Given the description of an element on the screen output the (x, y) to click on. 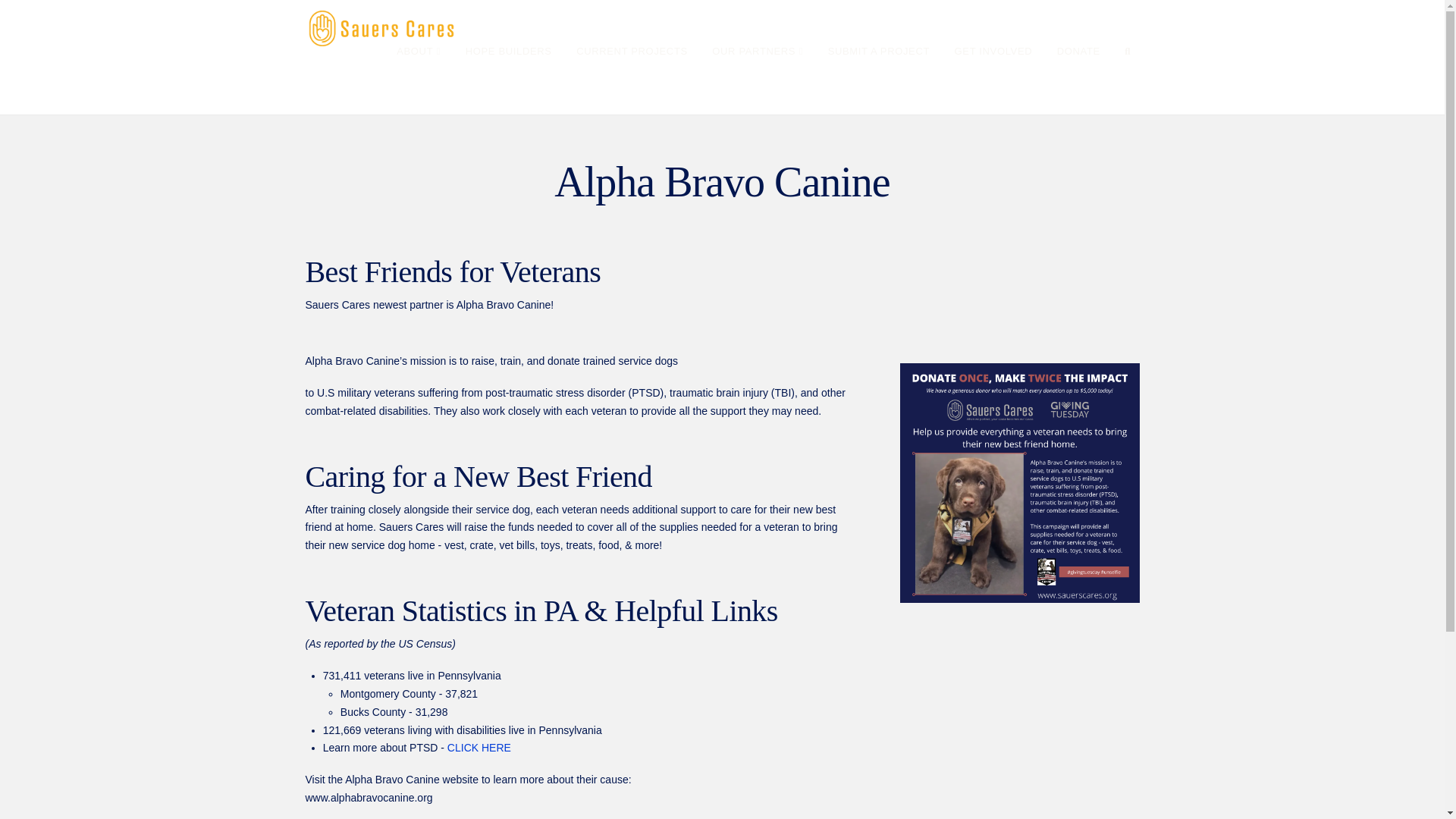
OUR PARTNERS (756, 79)
CURRENT PROJECTS (631, 79)
GET INVOLVED (992, 79)
CLICK HERE (478, 747)
HOPE BUILDERS (507, 79)
ABOUT (418, 79)
SUBMIT A PROJECT (877, 79)
DONATE (1078, 79)
